Given the description of an element on the screen output the (x, y) to click on. 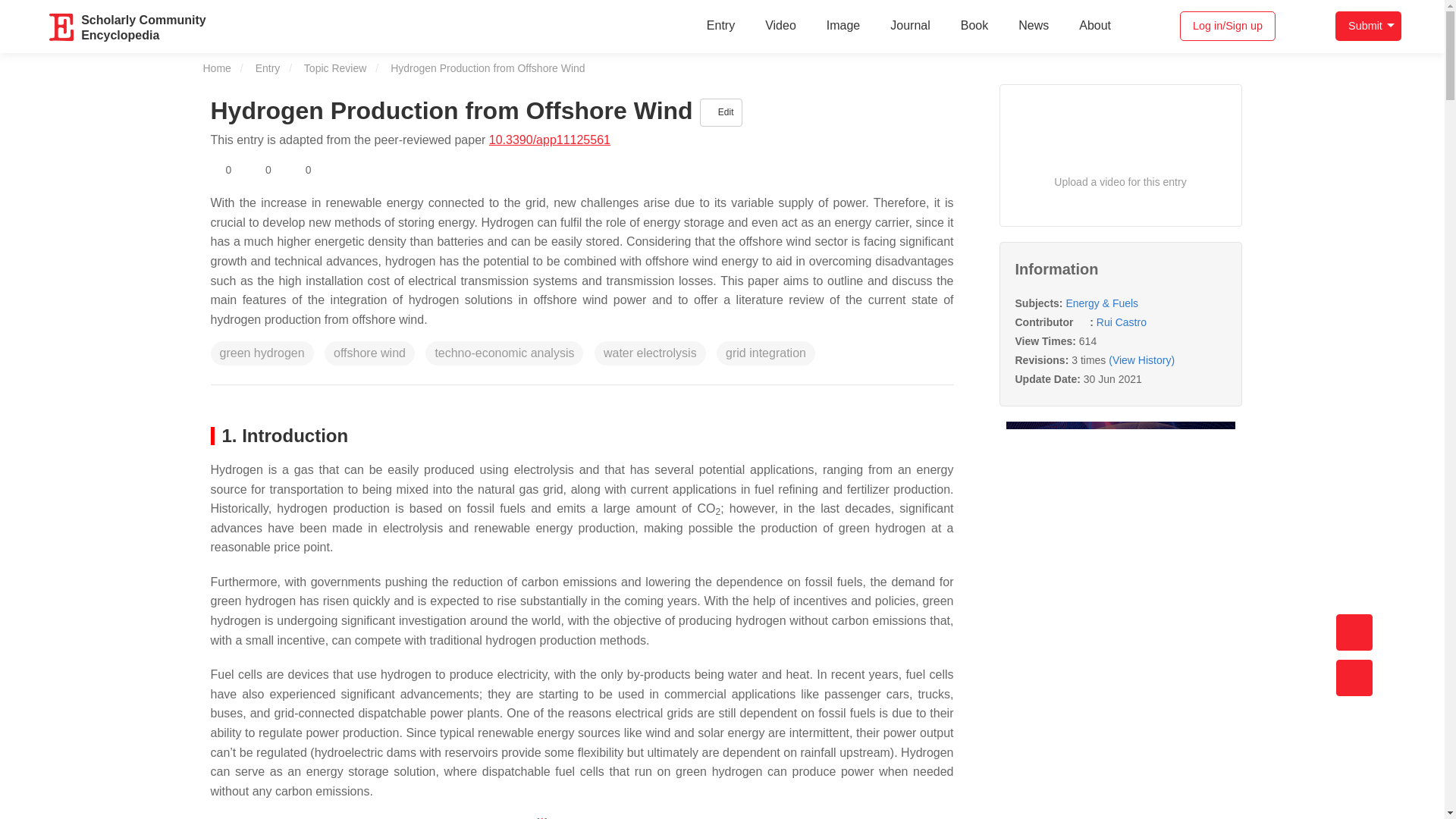
Share (336, 169)
Image (842, 25)
Like (260, 169)
Download as PDF (143, 25)
Entry (367, 169)
About (720, 25)
Submit (1094, 25)
Journal (1367, 25)
Video (909, 25)
News (779, 25)
Encyclopedia (1033, 25)
Book (62, 27)
Encyclopedia (973, 25)
Edit (62, 27)
